Given the description of an element on the screen output the (x, y) to click on. 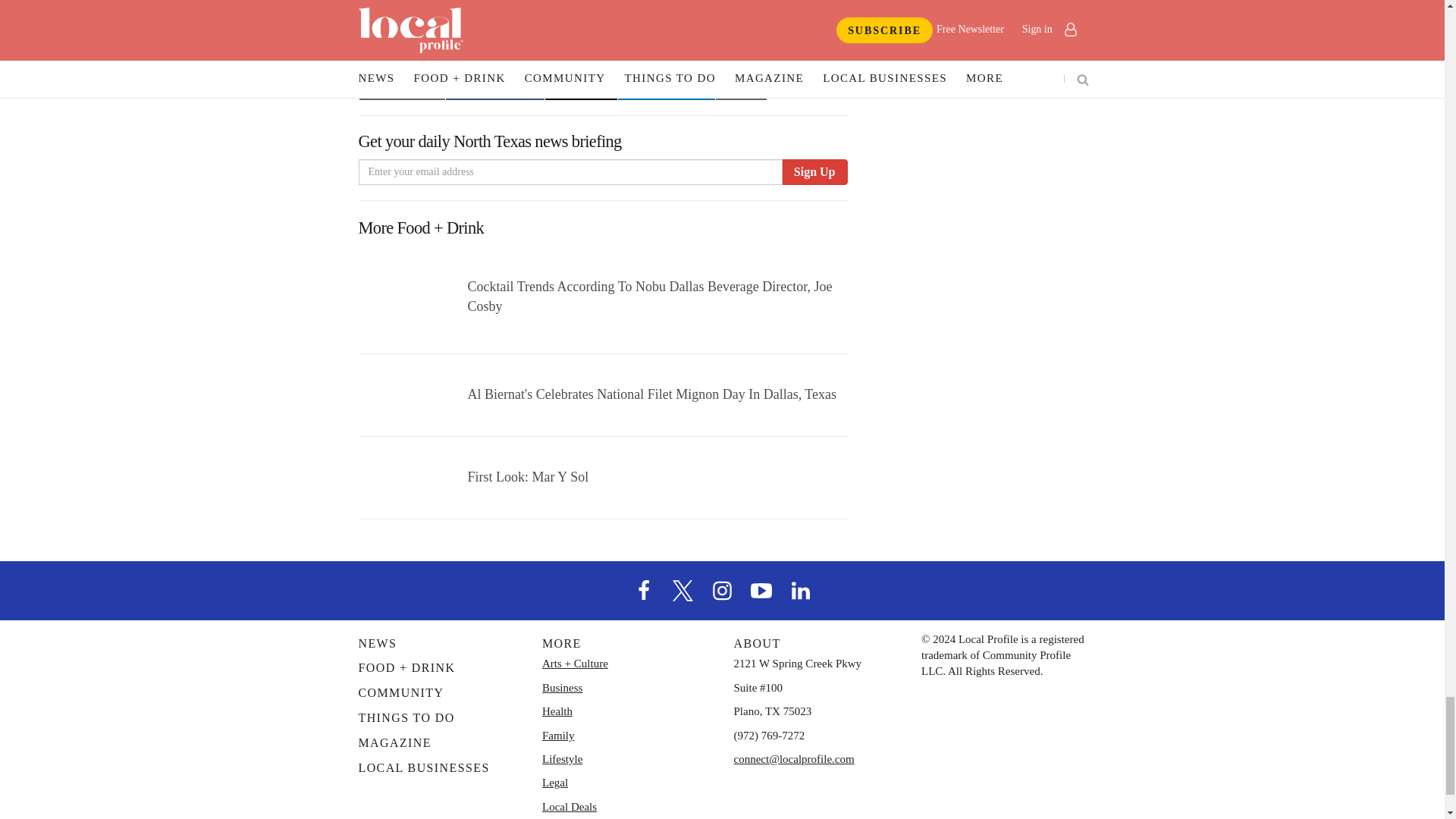
X (683, 589)
LinkedIn (800, 589)
Instagram (721, 589)
Facebook (644, 589)
YouTube (760, 589)
